Given the description of an element on the screen output the (x, y) to click on. 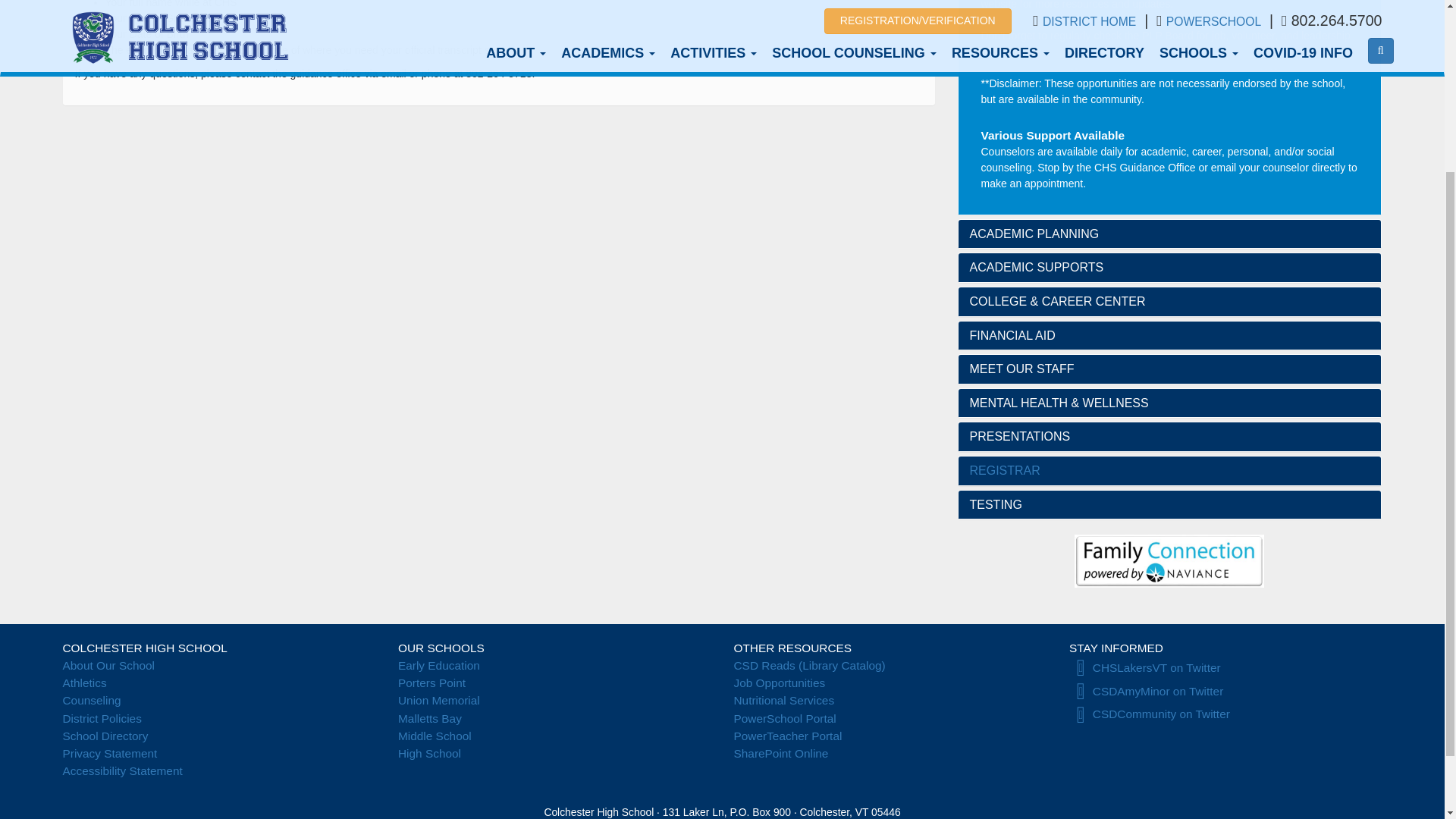
CHSLakersVT on Twitter (1144, 667)
CSDCommunity on Twitter (1149, 713)
CSDAmyMinor on Twitter (1145, 690)
